Given the description of an element on the screen output the (x, y) to click on. 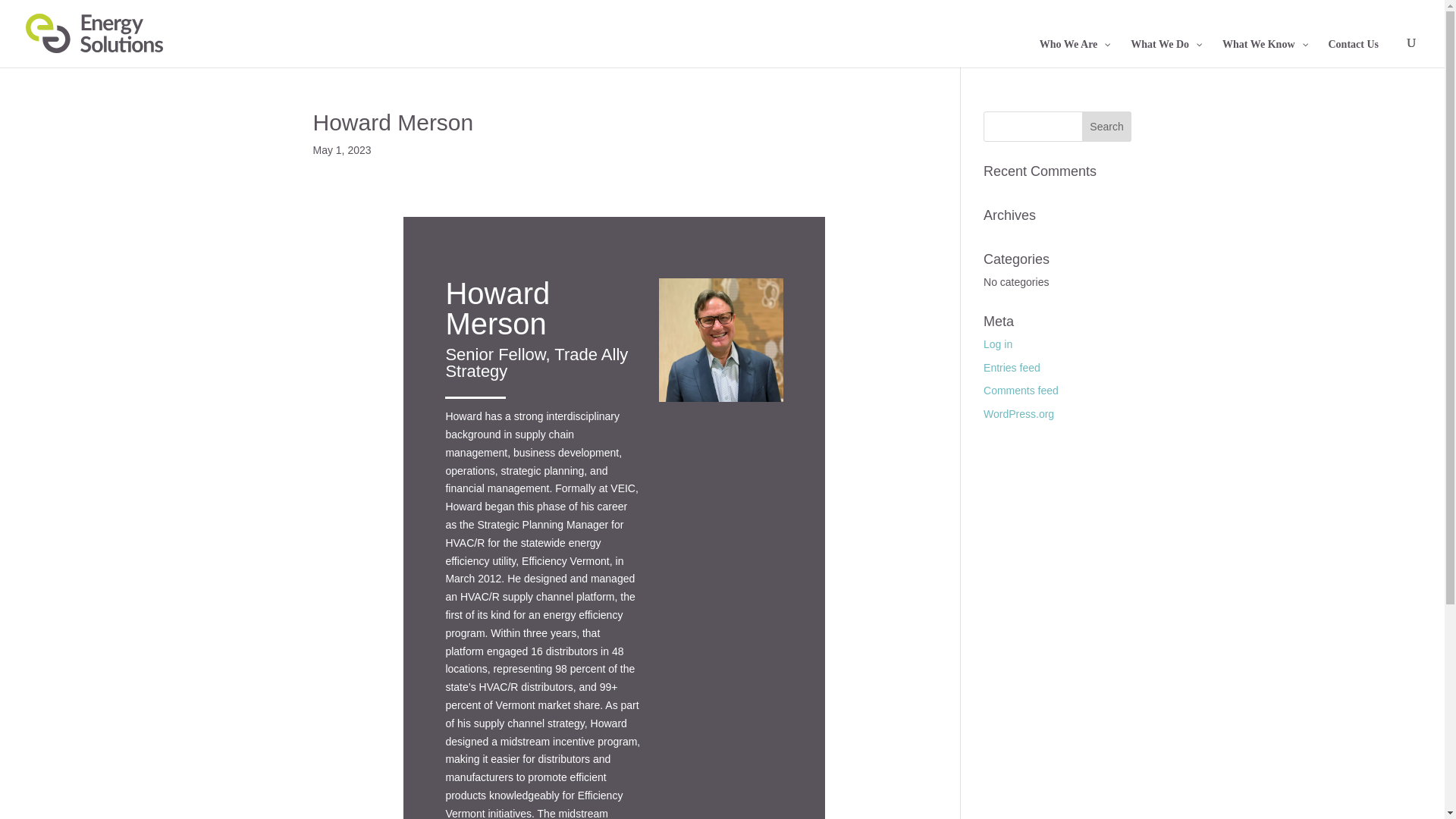
Comments feed (1021, 390)
Search (1106, 126)
What We Do (1165, 44)
Who We Are (1073, 44)
Log in (997, 344)
What We Know (1263, 44)
Search (1106, 126)
WordPress.org (1019, 413)
Entries feed (1012, 367)
Contact Us (1353, 44)
